Given the description of an element on the screen output the (x, y) to click on. 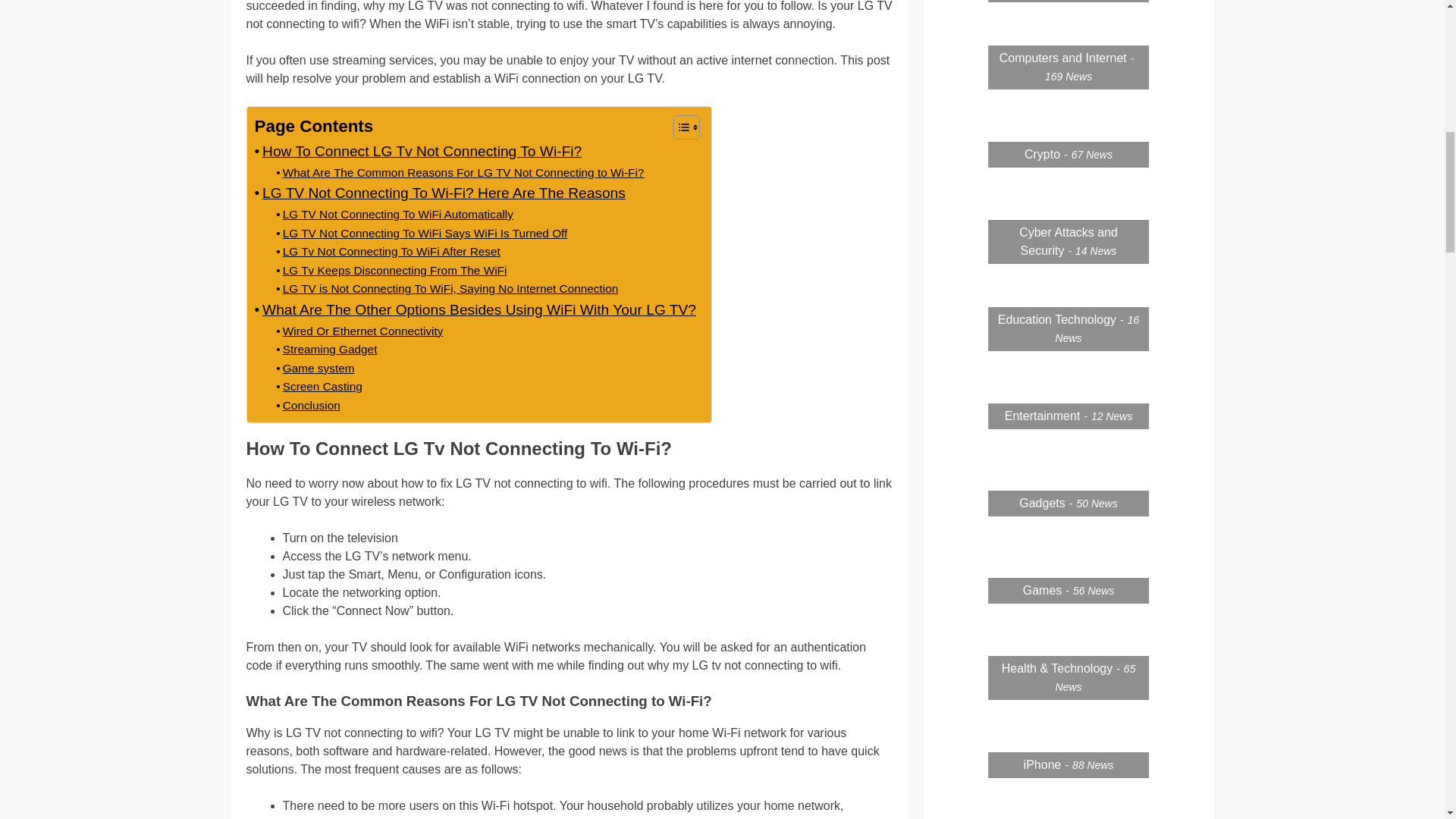
LG Tv Keeps Disconnecting From The WiFi (391, 270)
LG TV Not Connecting To Wi-Fi? Here Are The Reasons (440, 193)
LG Tv Keeps Disconnecting From The WiFi  (391, 270)
LG Tv Not Connecting To WiFi After Reset (388, 251)
Game system (314, 368)
smart TVs (386, 818)
LG TV Not Connecting To WiFi Says WiFi Is Turned Off  (421, 233)
